Given the description of an element on the screen output the (x, y) to click on. 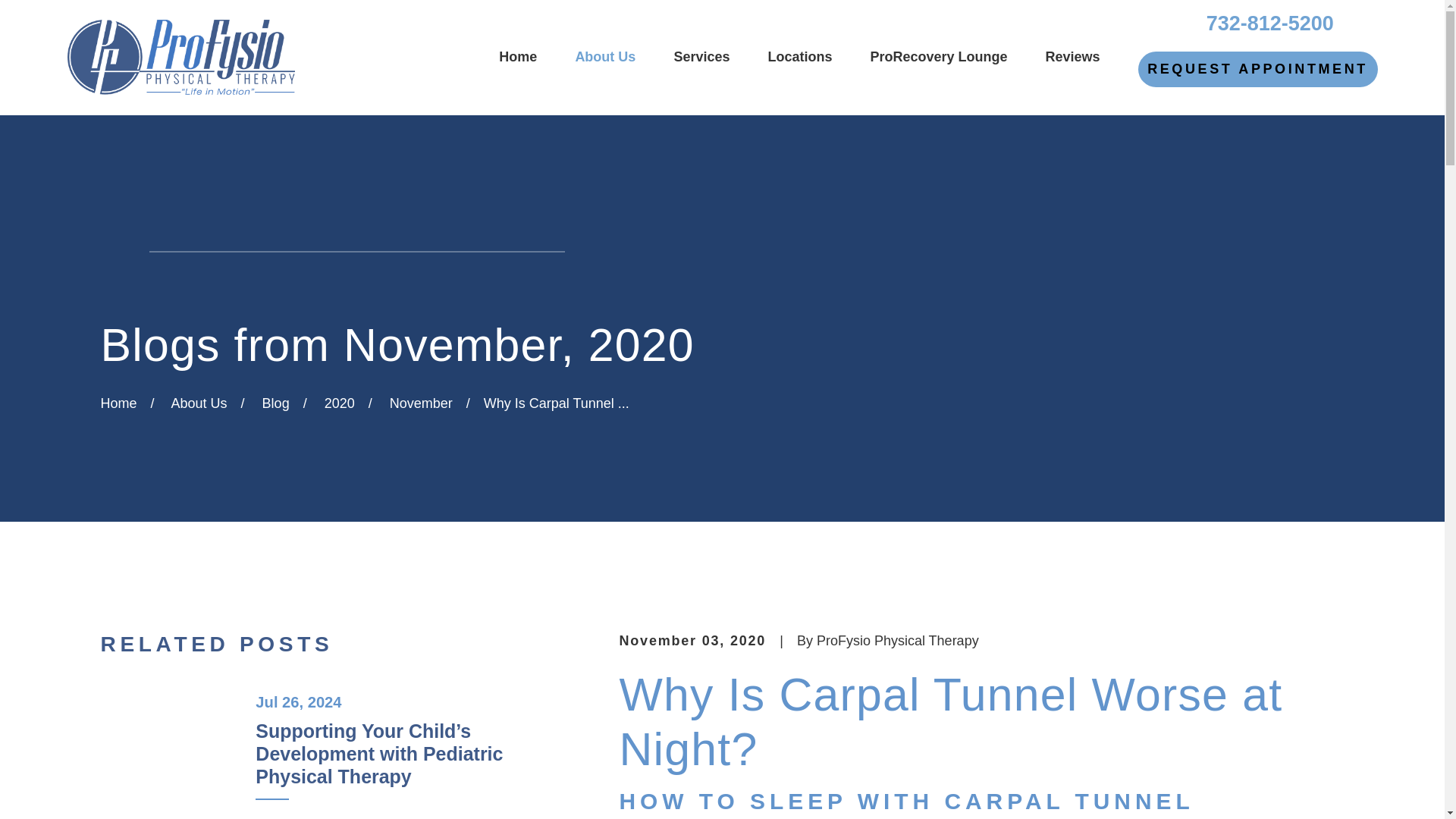
Services (700, 56)
Go Home (118, 403)
About Us (604, 56)
Home (180, 57)
